Given the description of an element on the screen output the (x, y) to click on. 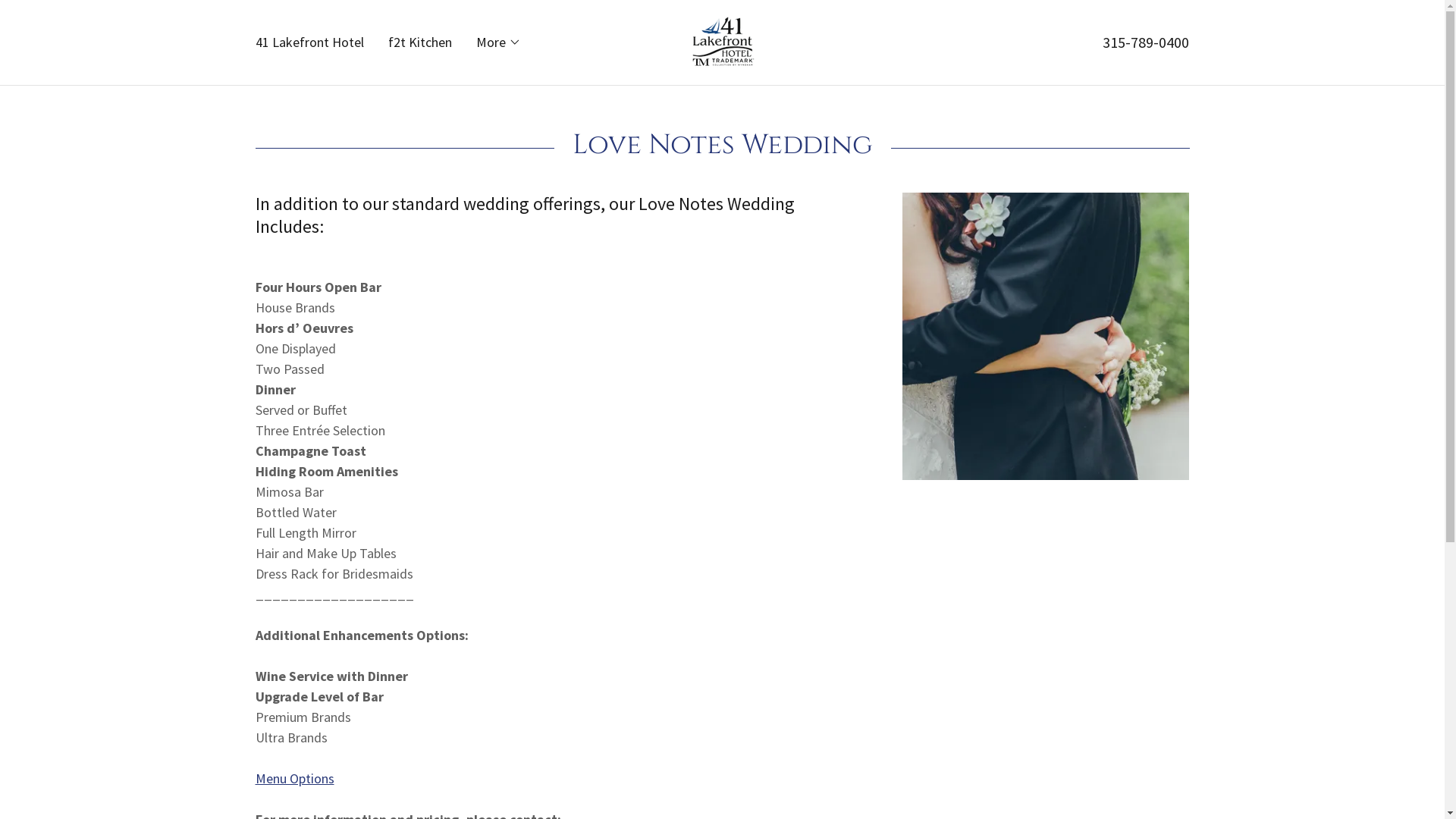
More Element type: text (498, 42)
Menu Options Element type: text (293, 778)
41 Lakefront Hotel Element type: text (309, 42)
f2t Kitchen Element type: text (419, 42)
Ramada Geneva Lakefront Element type: hover (721, 40)
315-789-0400 Element type: text (1145, 41)
